Given the description of an element on the screen output the (x, y) to click on. 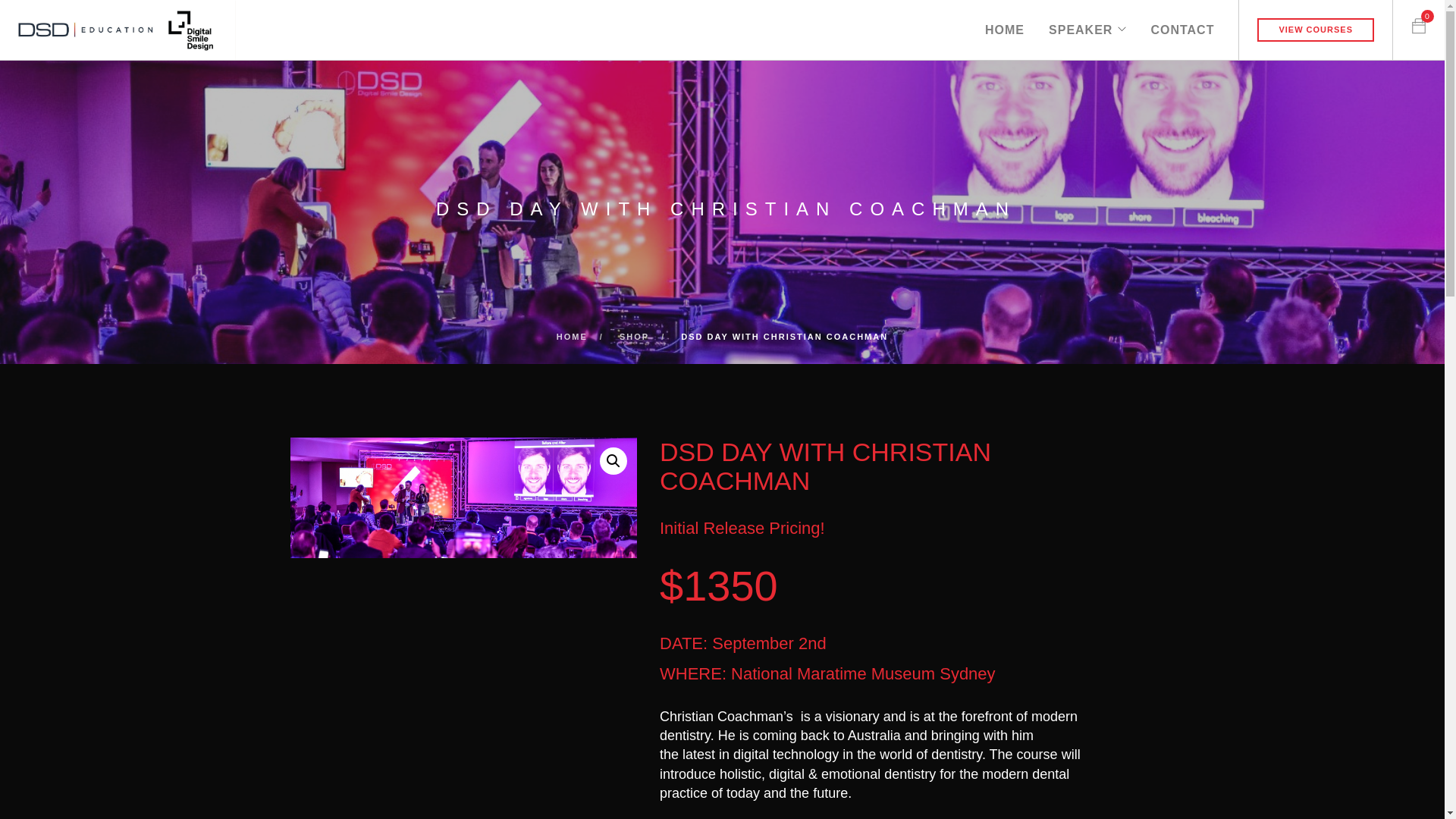
SHOP Element type: text (634, 336)
coachman Element type: hover (463, 497)
0 Element type: text (1418, 20)
SPEAKER Element type: text (1080, 21)
VIEW COURSES Element type: text (1315, 29)
HOME Element type: text (571, 336)
CONTACT Element type: text (1182, 21)
HOME Element type: text (1004, 21)
